Given the description of an element on the screen output the (x, y) to click on. 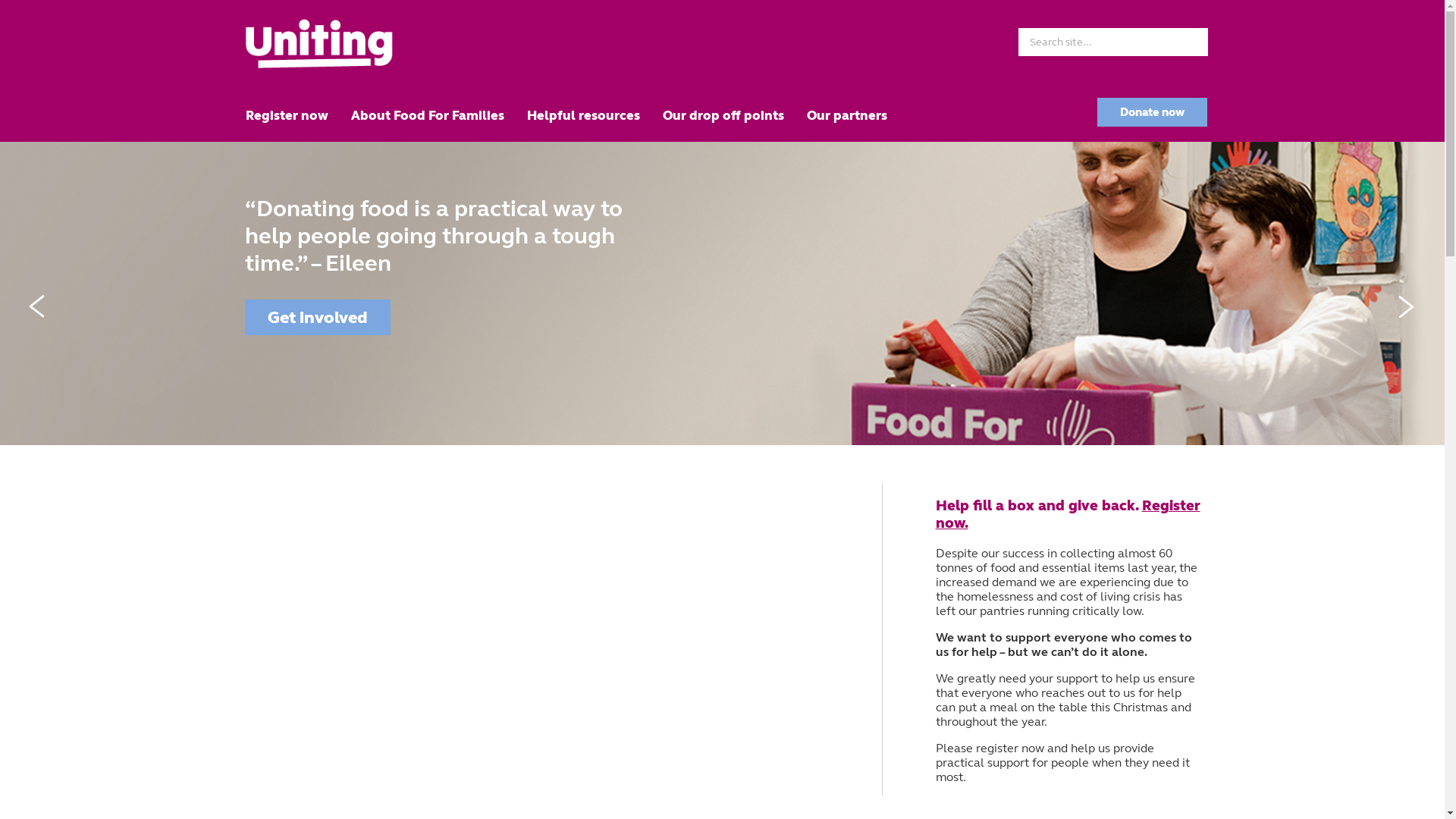
Register now Element type: text (285, 115)
Get involved Element type: text (316, 317)
Search Element type: text (1189, 41)
Helpful resources Element type: text (583, 115)
About Food For Families Element type: text (427, 115)
Our partners Element type: text (845, 115)
Register now. Element type: text (1067, 513)
Donate now Element type: text (1151, 111)
Search site... Element type: hover (1112, 42)
Our drop off points Element type: text (722, 115)
